Given the description of an element on the screen output the (x, y) to click on. 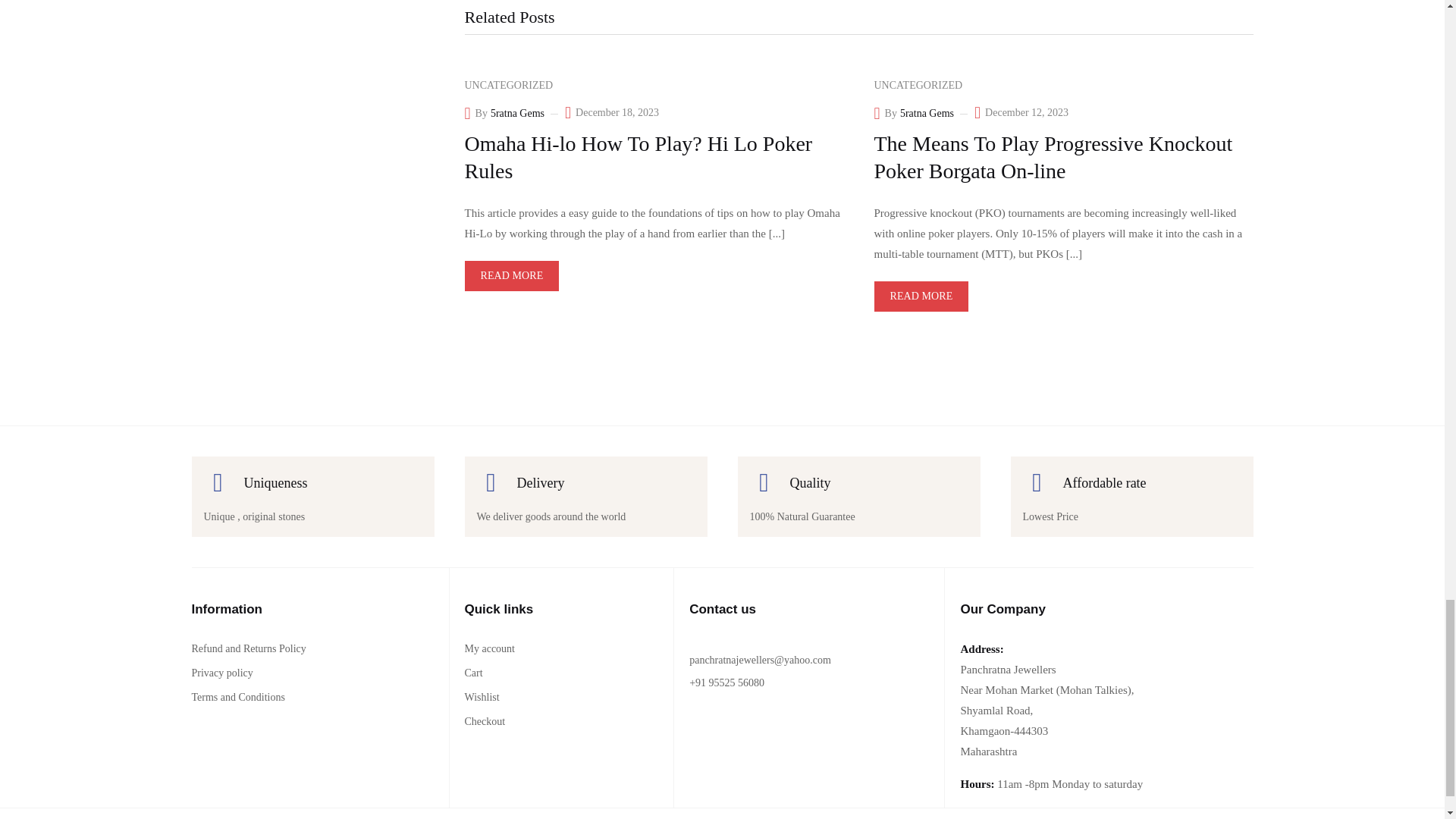
View all posts in Uncategorized (917, 85)
Posts by 5ratna gems (517, 113)
Read more (511, 276)
View all posts in Uncategorized (508, 85)
